Given the description of an element on the screen output the (x, y) to click on. 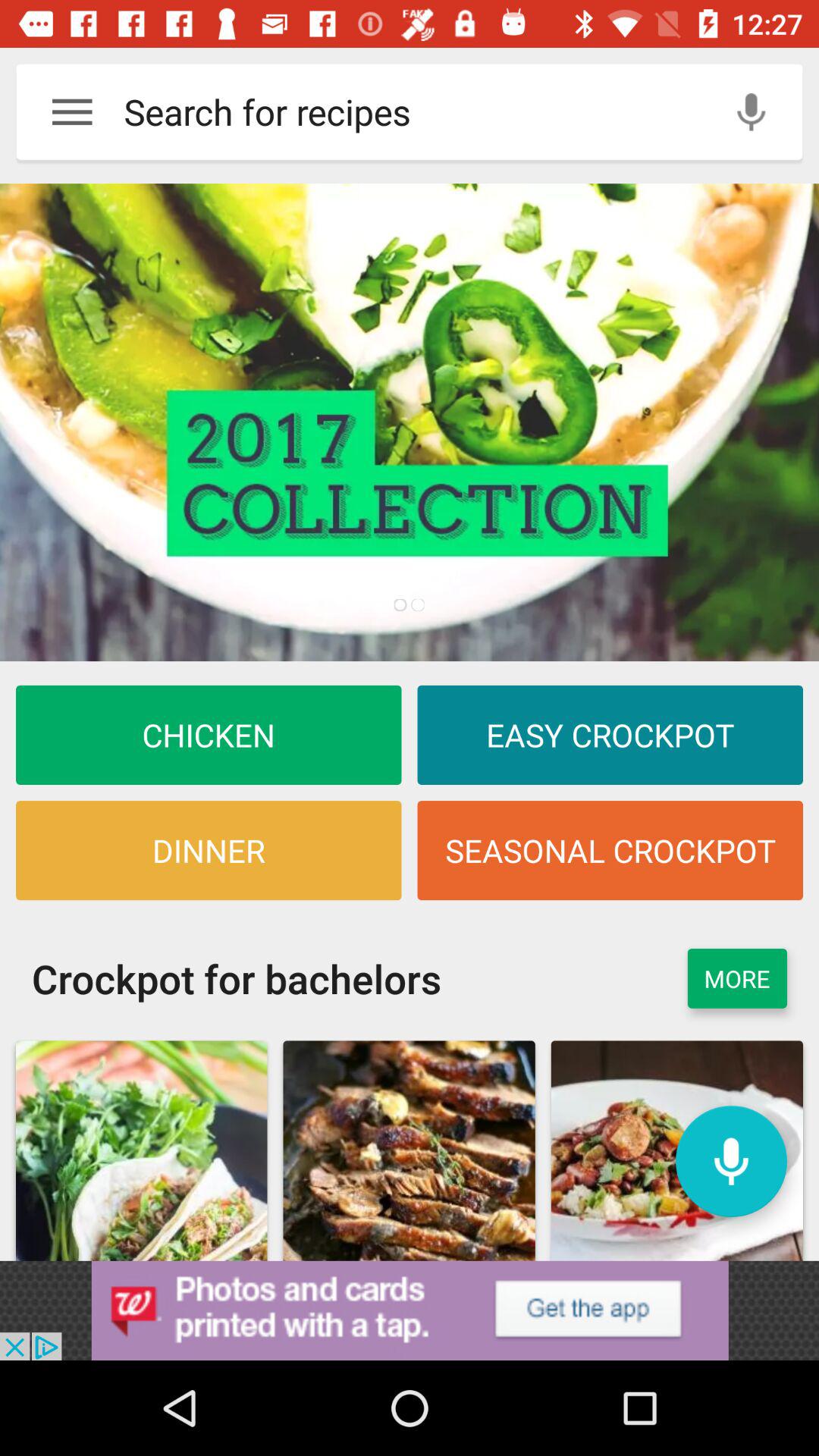
turn on voice search (751, 111)
